Given the description of an element on the screen output the (x, y) to click on. 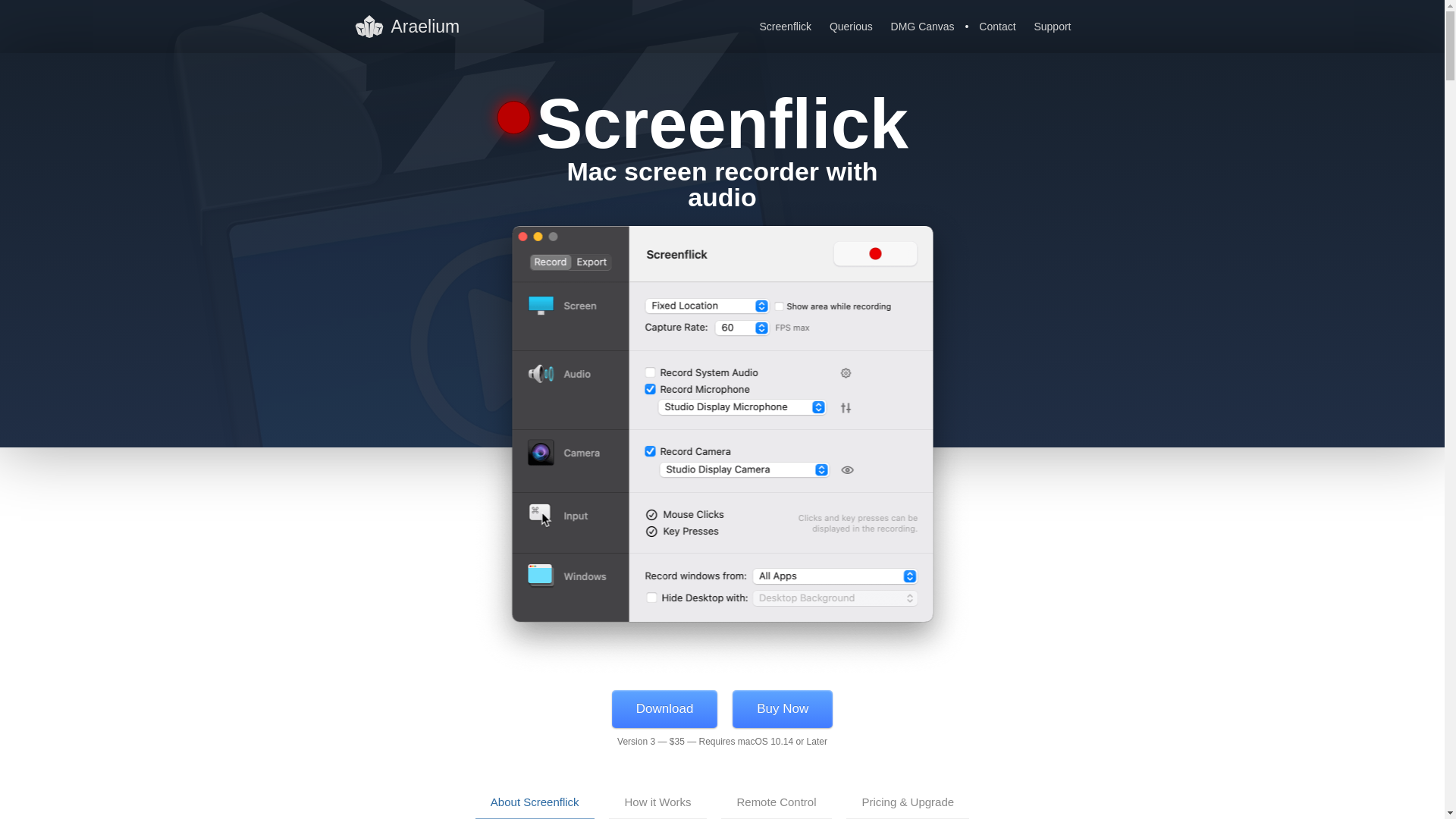
How it Works (657, 802)
About Screenflick (535, 802)
Querious (851, 26)
Support (1052, 26)
Buy Now (782, 709)
Download (664, 709)
DMG Canvas (922, 26)
Araelium (413, 18)
Contact (997, 26)
Screenflick (785, 26)
Remote Control (775, 802)
